Given the description of an element on the screen output the (x, y) to click on. 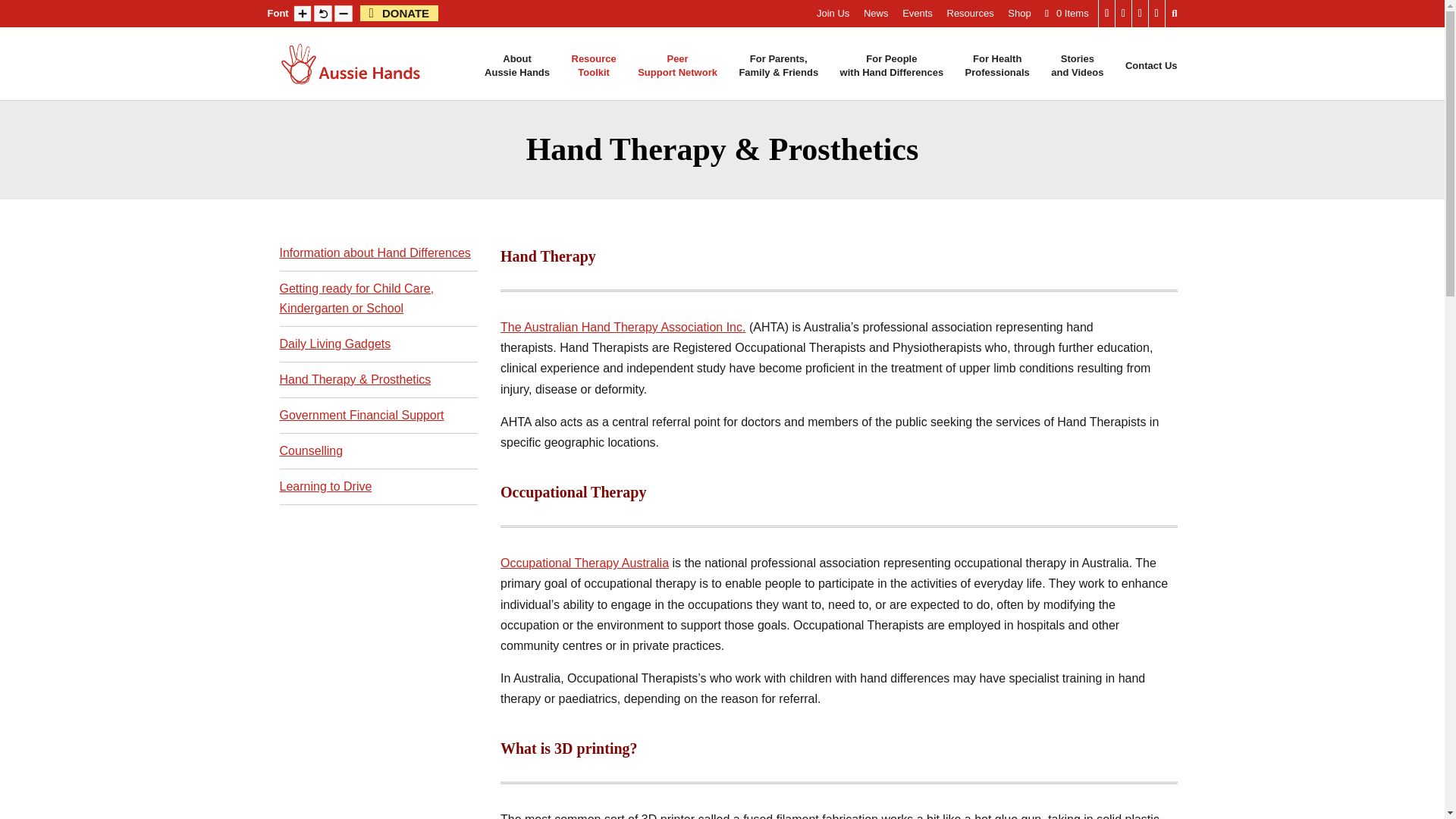
News (875, 16)
0 Items (1067, 12)
Join Us (832, 16)
Events (593, 72)
Resources (917, 16)
Shop (969, 16)
DONATE (517, 72)
About  Aussies hands foundation  (1018, 16)
